Given the description of an element on the screen output the (x, y) to click on. 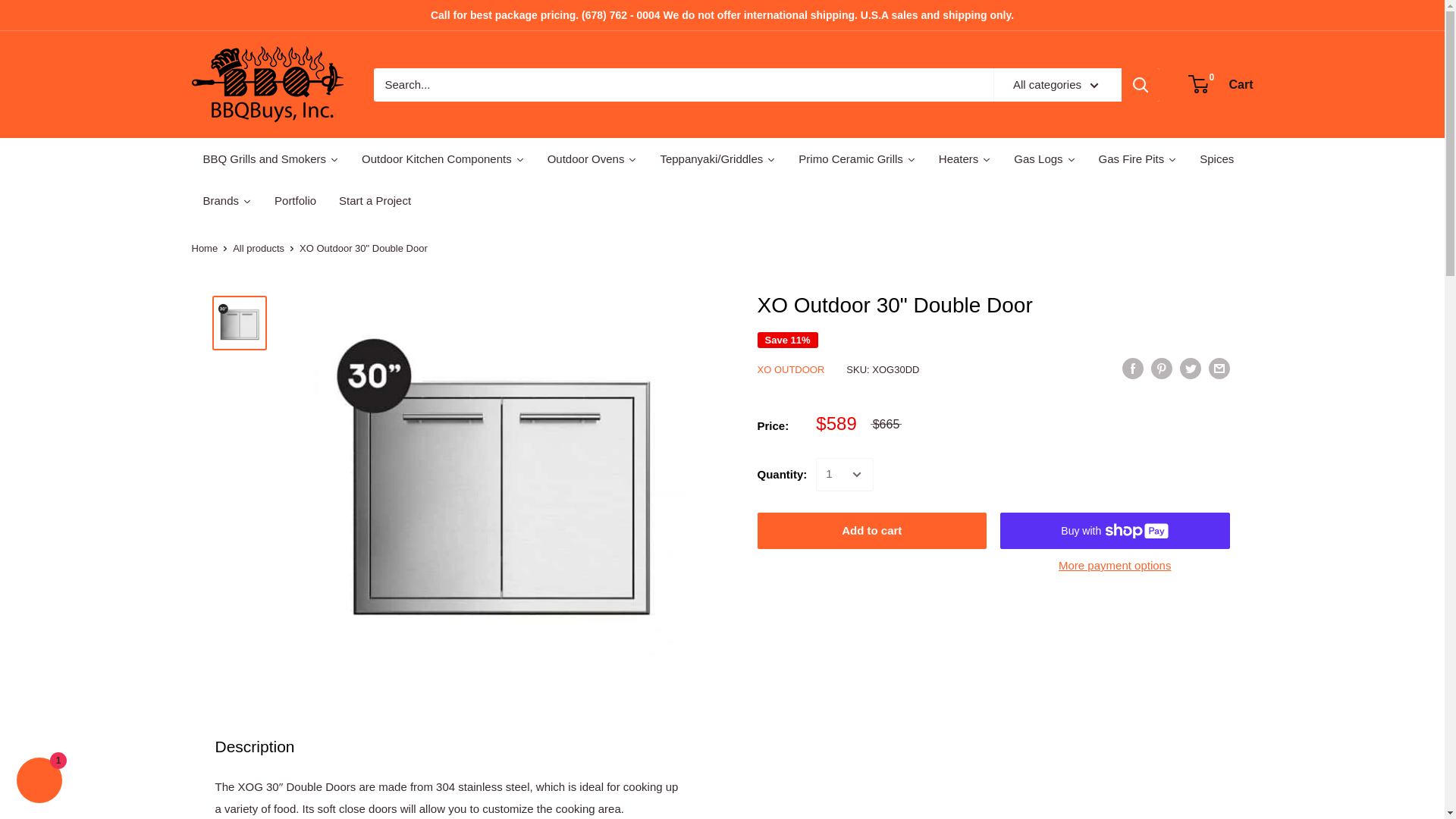
Gas Fire Pits (1138, 158)
Heaters (965, 158)
BBQ Grills and Smokers (270, 158)
Primo Ceramic Grills (857, 158)
Outdoor Ovens (592, 158)
Outdoor Kitchen Components (442, 158)
Gas Logs (1044, 158)
